Given the description of an element on the screen output the (x, y) to click on. 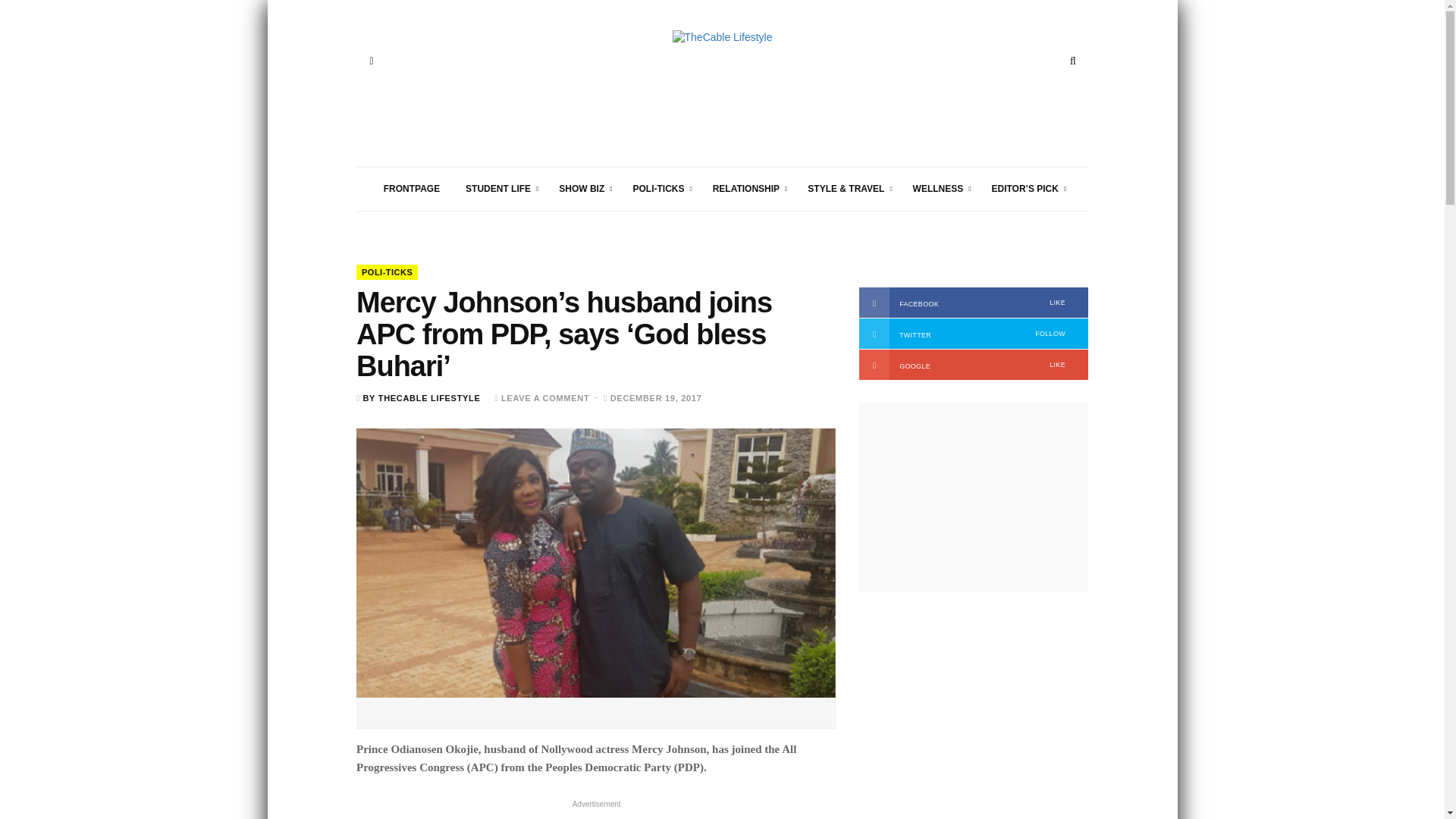
Search (1072, 60)
STUDENT LIFE (499, 188)
FRONTPAGE (411, 188)
POLI-TICKS (659, 188)
SHOW BIZ (582, 188)
